Given the description of an element on the screen output the (x, y) to click on. 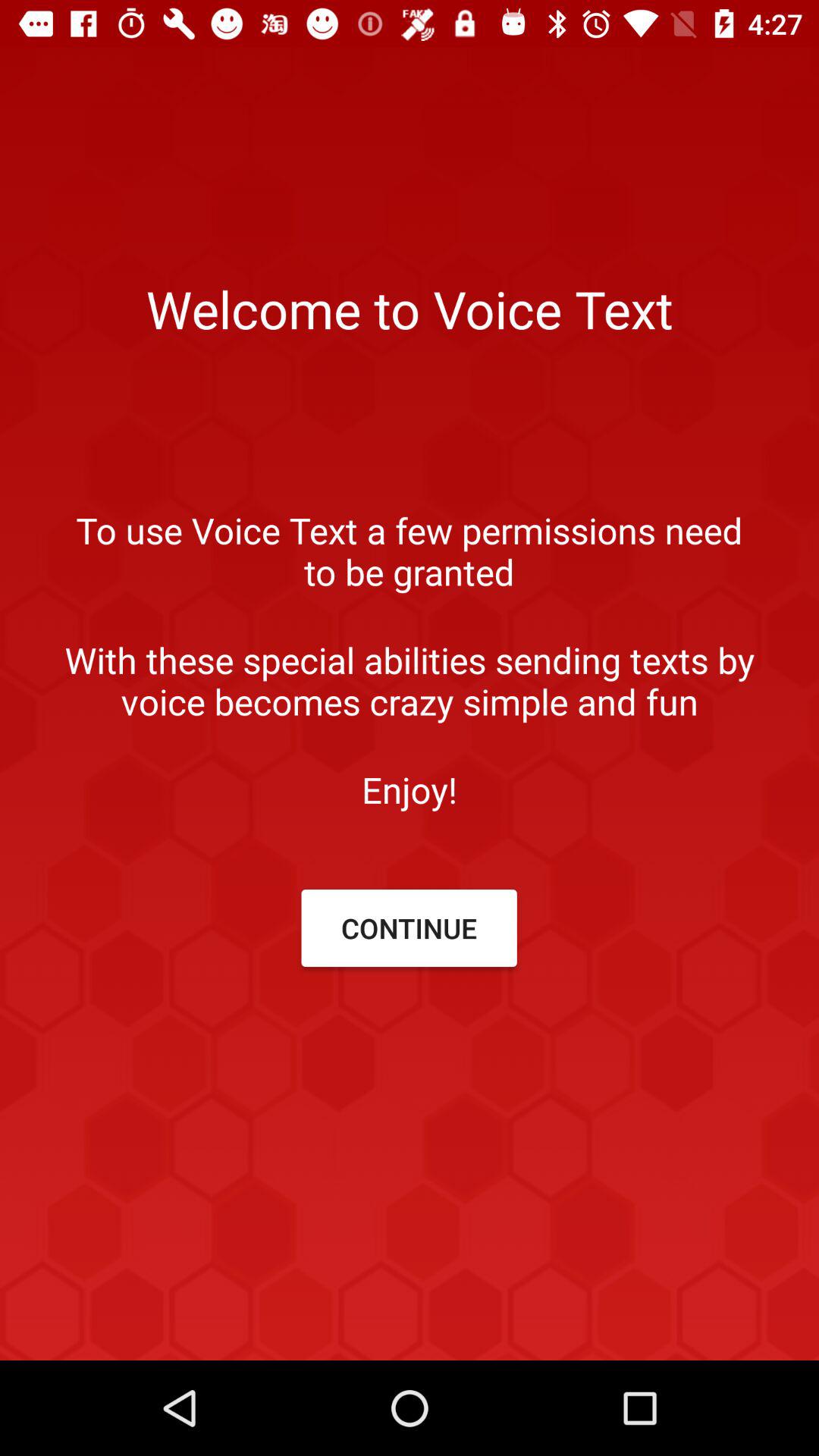
turn on item below enjoy! item (408, 927)
